Given the description of an element on the screen output the (x, y) to click on. 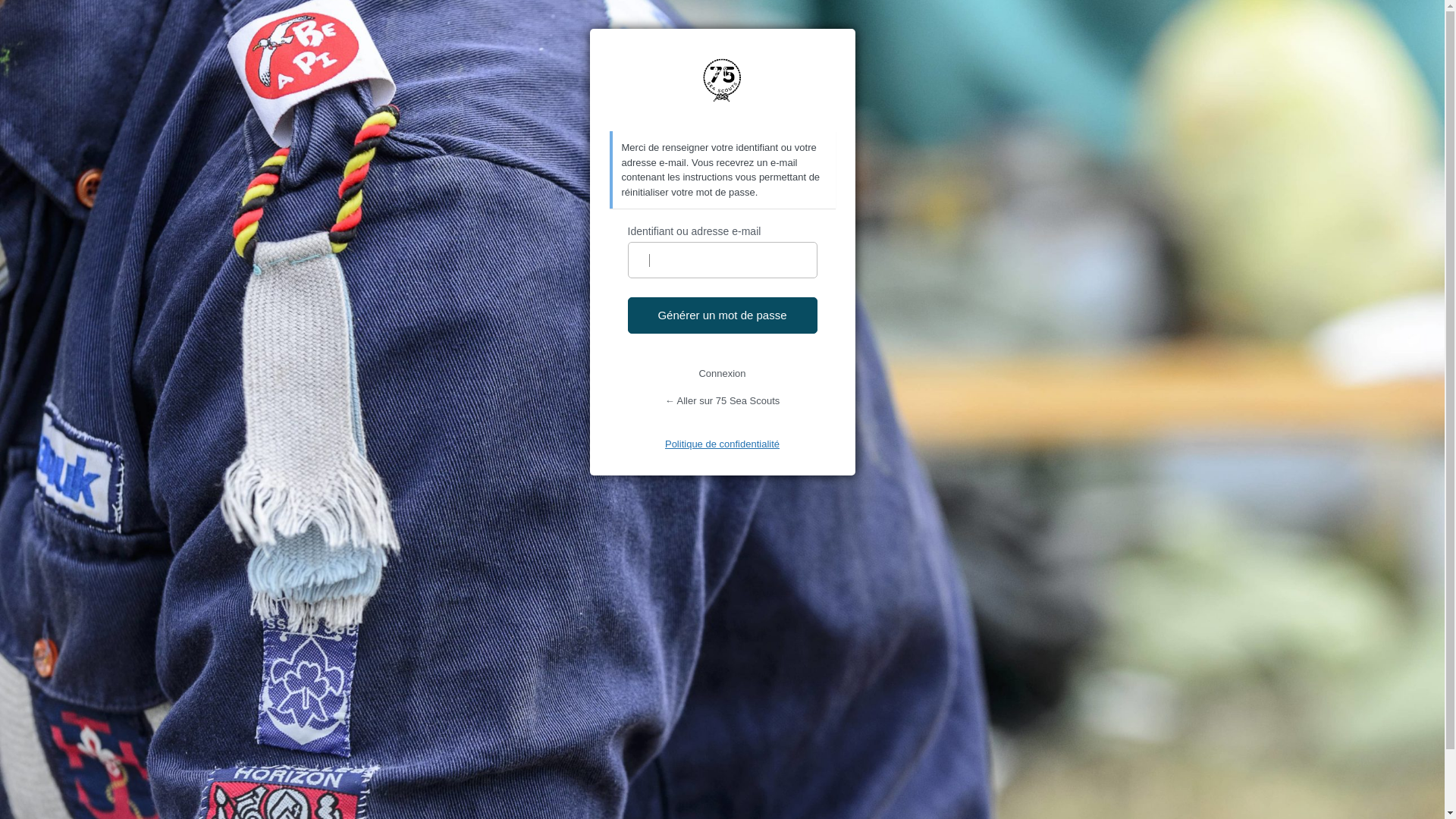
Connexion Element type: text (721, 373)
https://www.75seascouts.be Element type: text (721, 80)
